Given the description of an element on the screen output the (x, y) to click on. 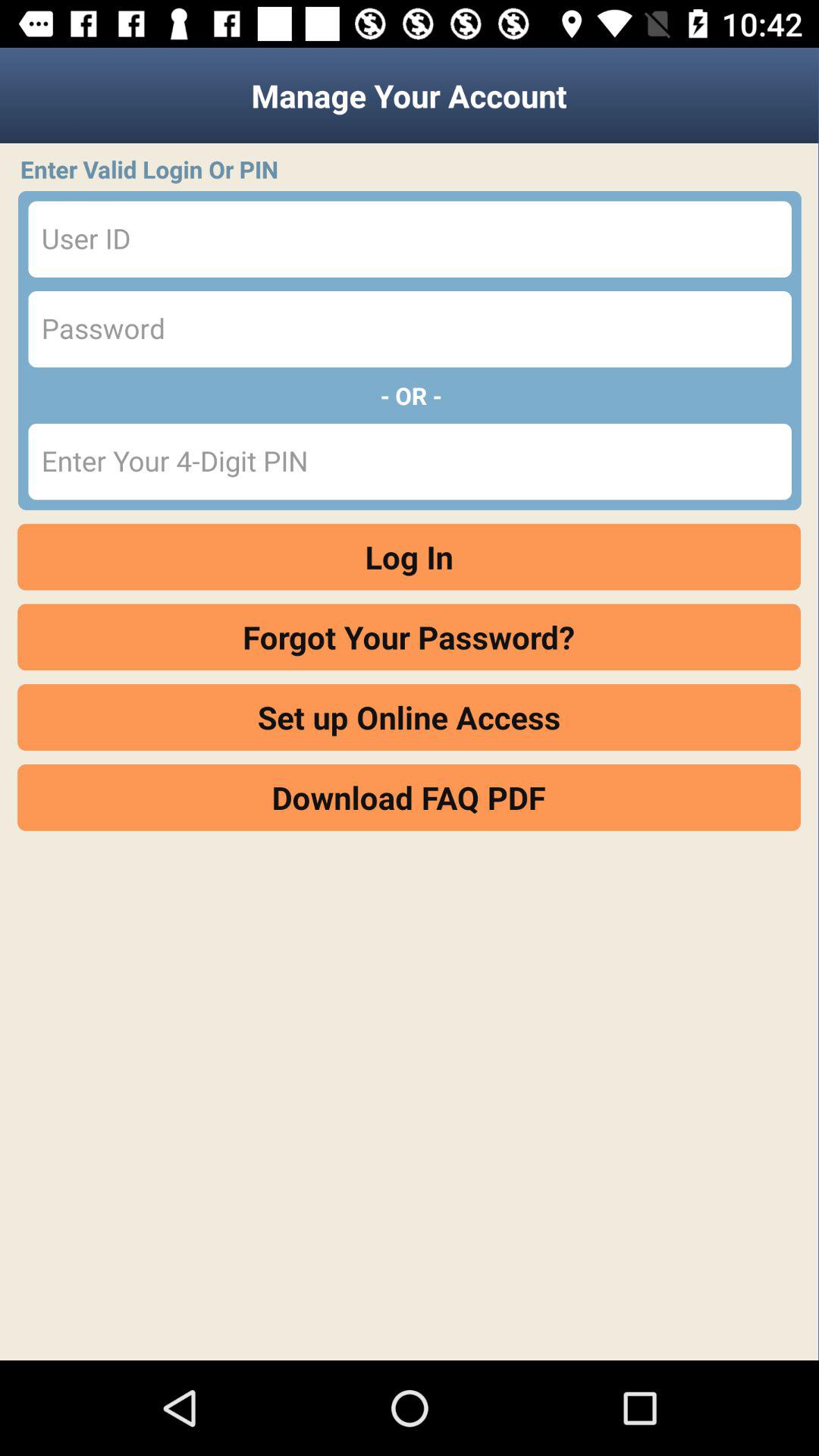
flip to the download faq pdf item (408, 797)
